Given the description of an element on the screen output the (x, y) to click on. 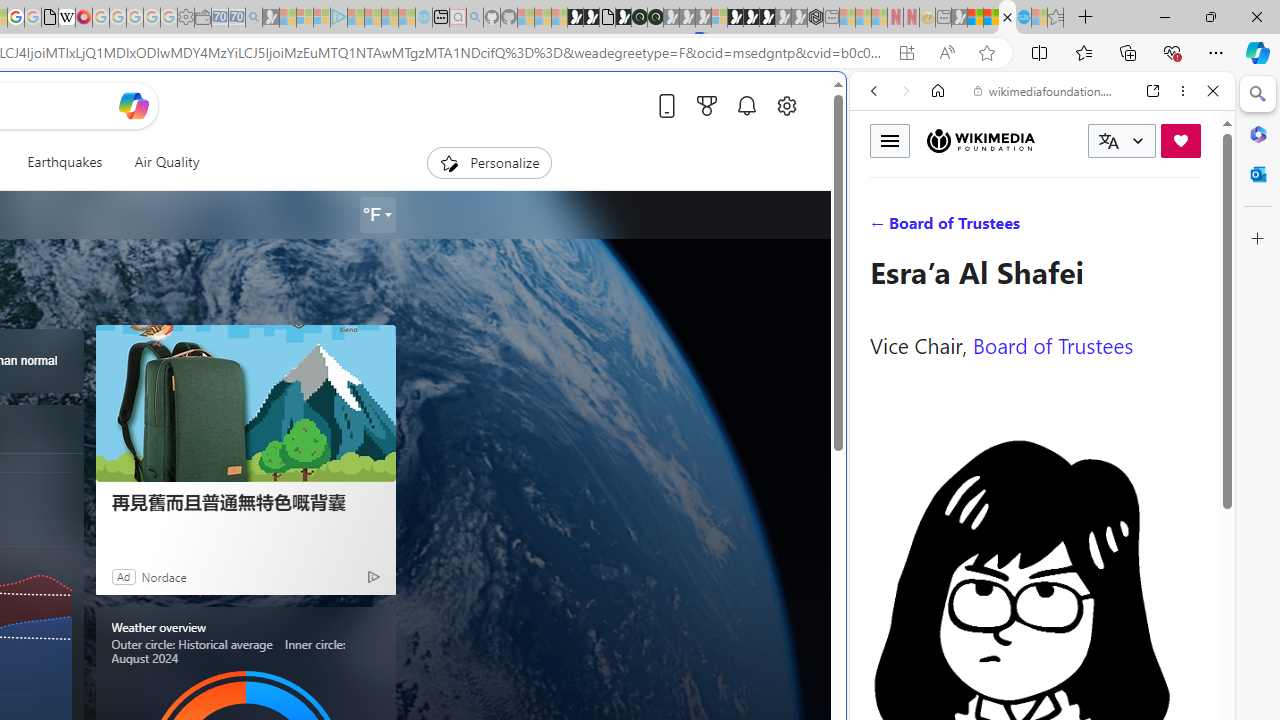
Air Quality (166, 162)
Air Quality (158, 162)
Services - Maintenance | Sky Blue Bikes - Sky Blue Bikes (1023, 17)
Donate now (1180, 140)
MediaWiki (83, 17)
